Given the description of an element on the screen output the (x, y) to click on. 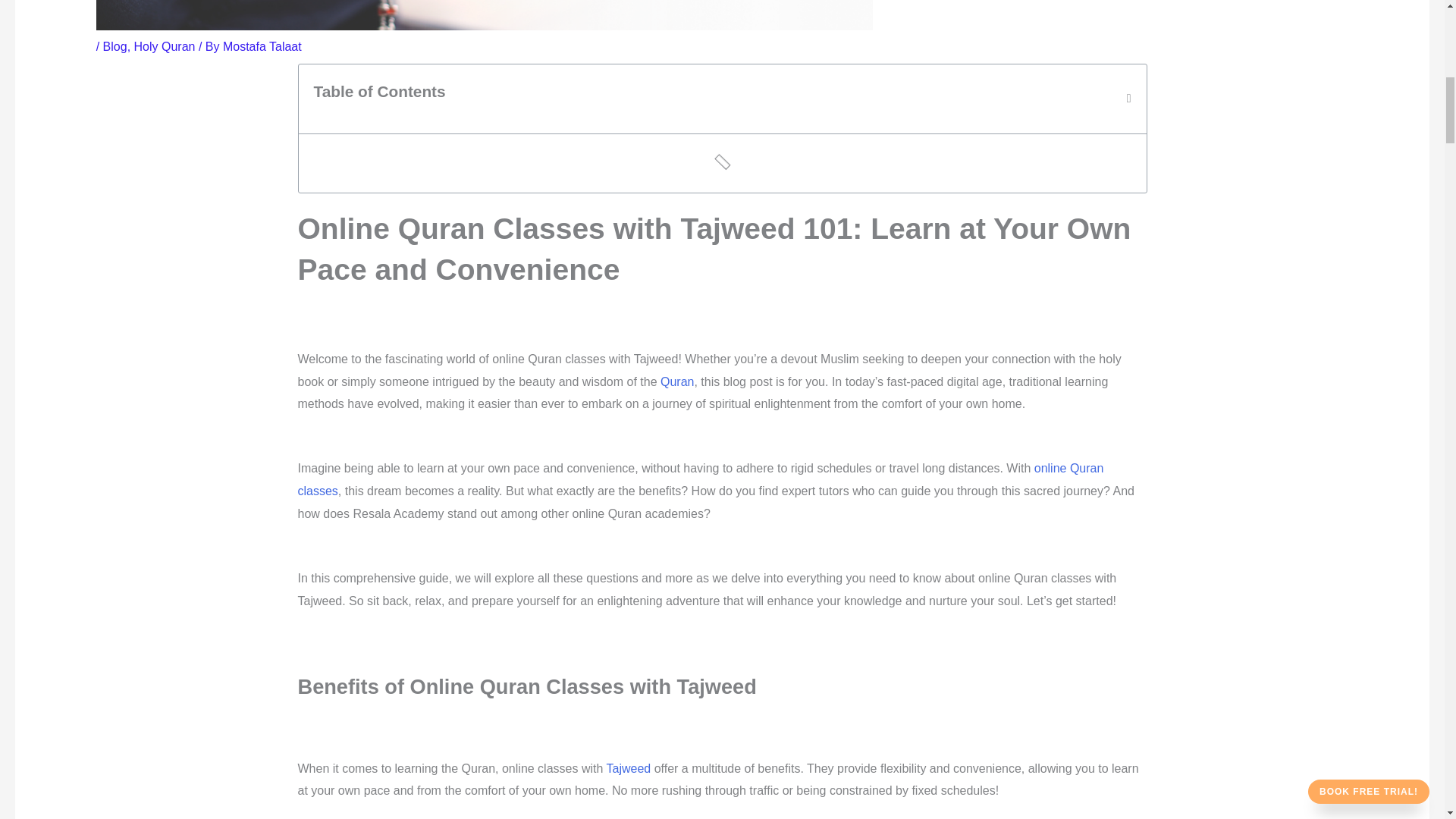
Quran (677, 381)
View all posts by Mostafa Talaat (261, 46)
Holy Quran (164, 46)
Blog (115, 46)
Mostafa Talaat (261, 46)
online Quran classes (700, 479)
Tajweed (630, 768)
